Given the description of an element on the screen output the (x, y) to click on. 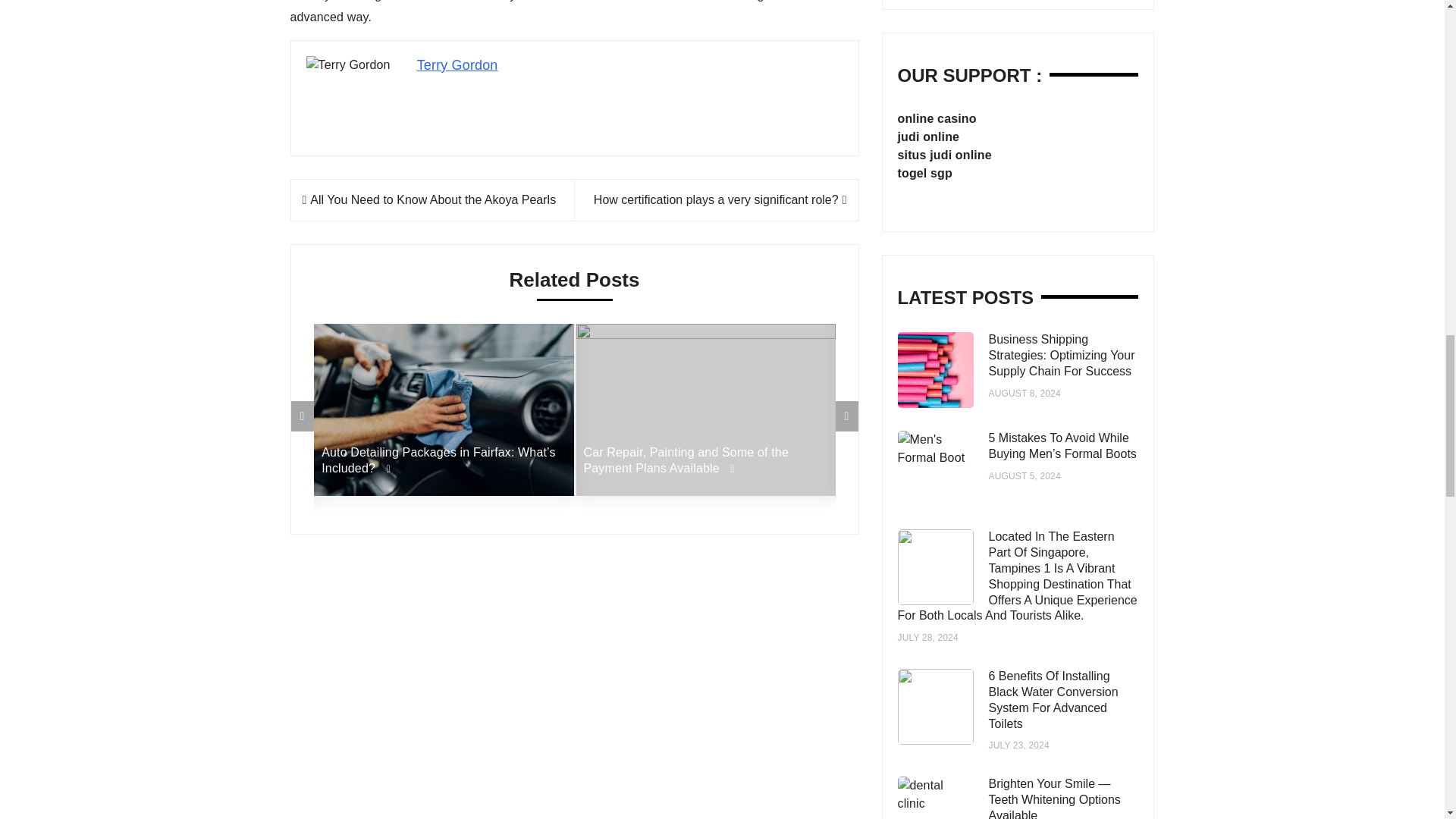
All You Need to Know About the Akoya Pearls (428, 199)
Terry Gordon (456, 64)
Car Repair, Painting and Some of the Payment Plans Available (705, 461)
How certification plays a very significant role? (720, 199)
